Given the description of an element on the screen output the (x, y) to click on. 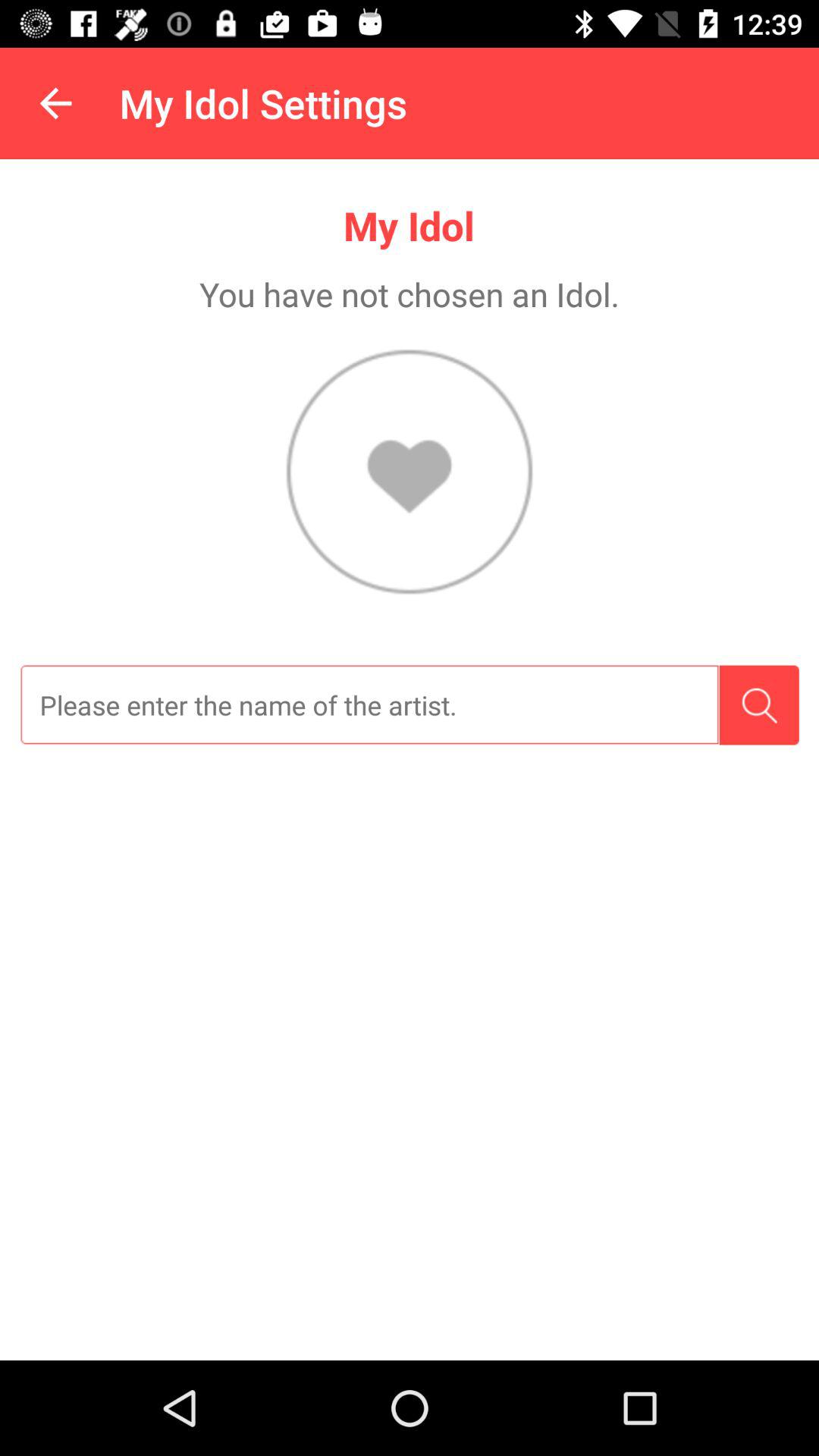
search name of artist (369, 705)
